Given the description of an element on the screen output the (x, y) to click on. 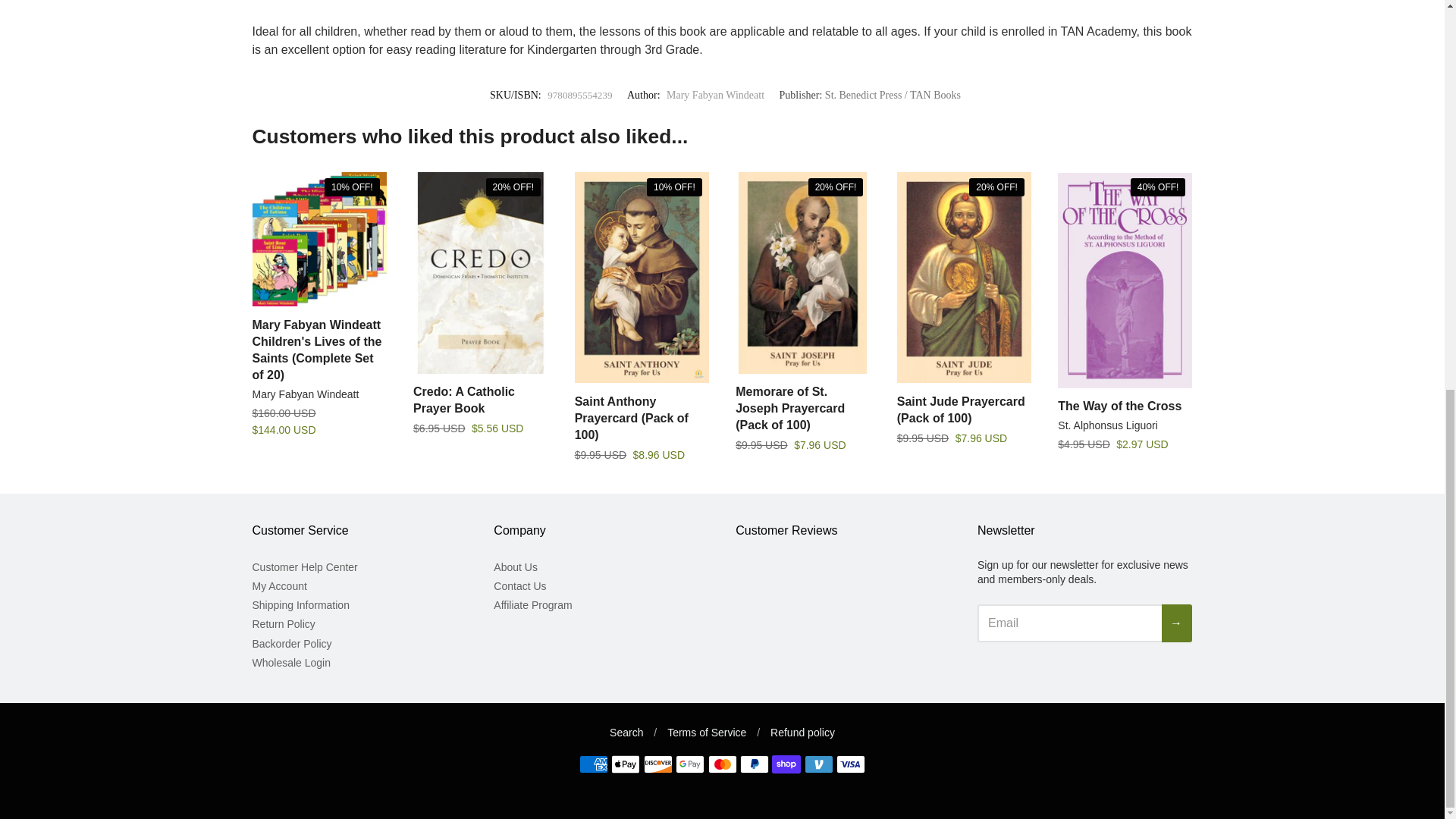
PayPal (753, 764)
Apple Pay (625, 764)
Venmo (818, 764)
Credo: A Catholic Prayer Book (480, 272)
Shop Pay (785, 764)
The Way of the Cross (1125, 279)
Mastercard (721, 764)
Customer reviews powered by Trustpilot (815, 614)
The Way of the Cross (1119, 405)
Discover (657, 764)
Credo: A Catholic Prayer Book (464, 399)
American Express (593, 764)
Visa (849, 764)
Google Pay (689, 764)
